Given the description of an element on the screen output the (x, y) to click on. 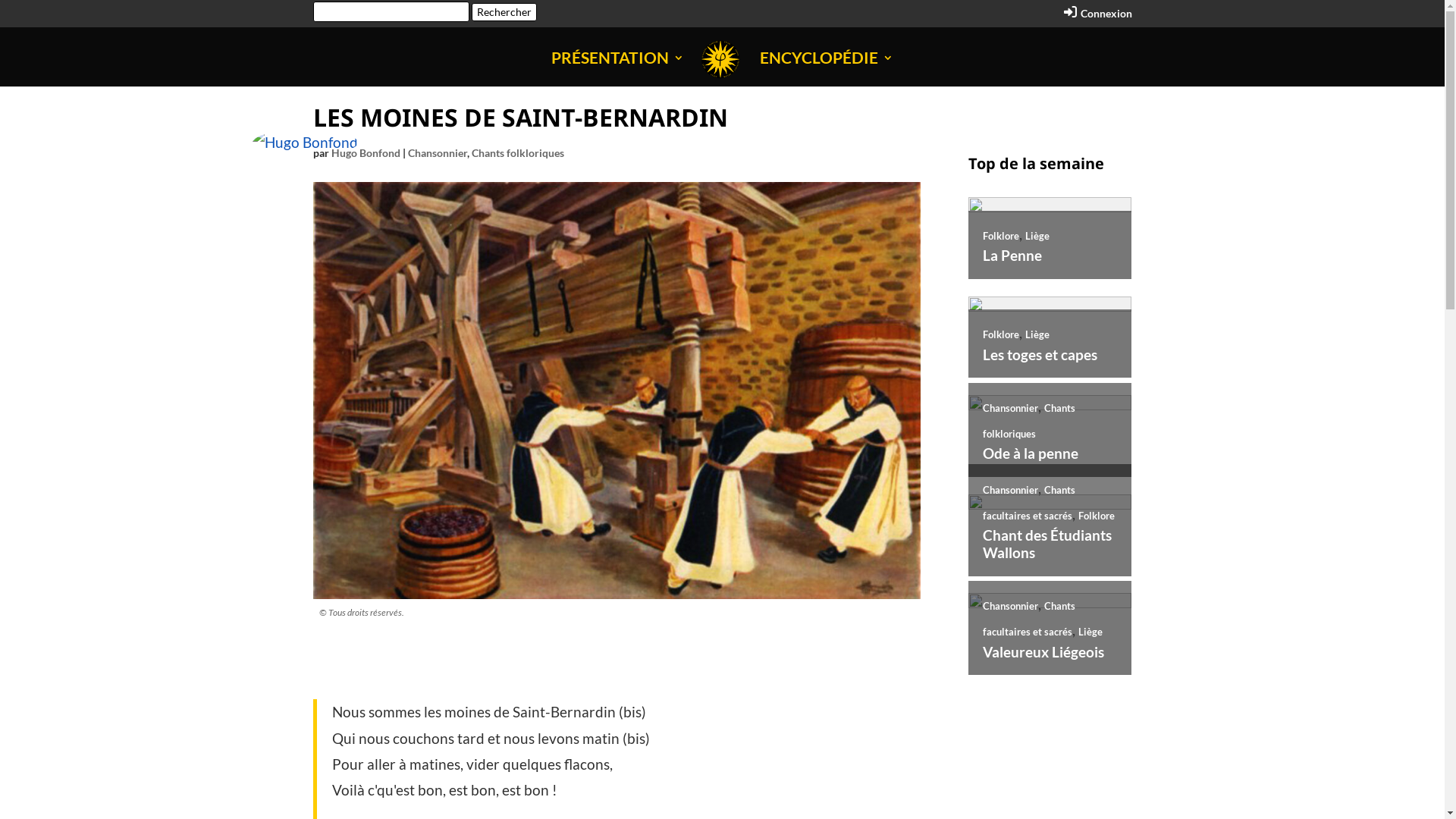
Chansonnier Element type: text (437, 152)
Connexion Element type: text (1097, 16)
Rechercher Element type: text (503, 12)
Chants folkloriques Element type: text (517, 152)
Hugo Bonfond Element type: text (364, 152)
